Given the description of an element on the screen output the (x, y) to click on. 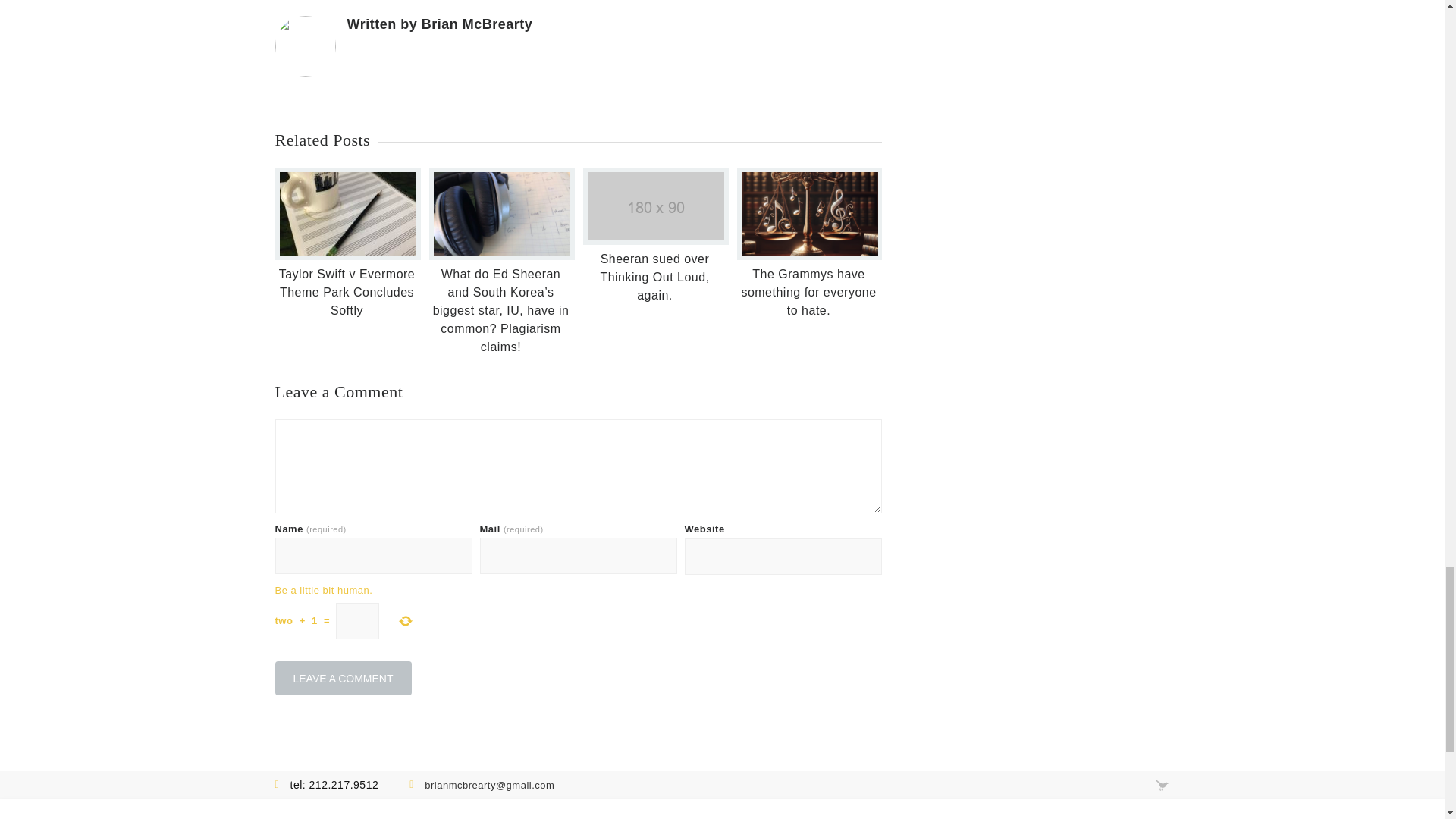
The Grammys have something for everyone to hate. (808, 291)
Sheeran sued over Thinking Out Loud, again. (654, 277)
Leave a Comment (342, 677)
Leave a Comment (342, 677)
Taylor Swift v Evermore Theme Park Concludes Softly (346, 291)
